Given the description of an element on the screen output the (x, y) to click on. 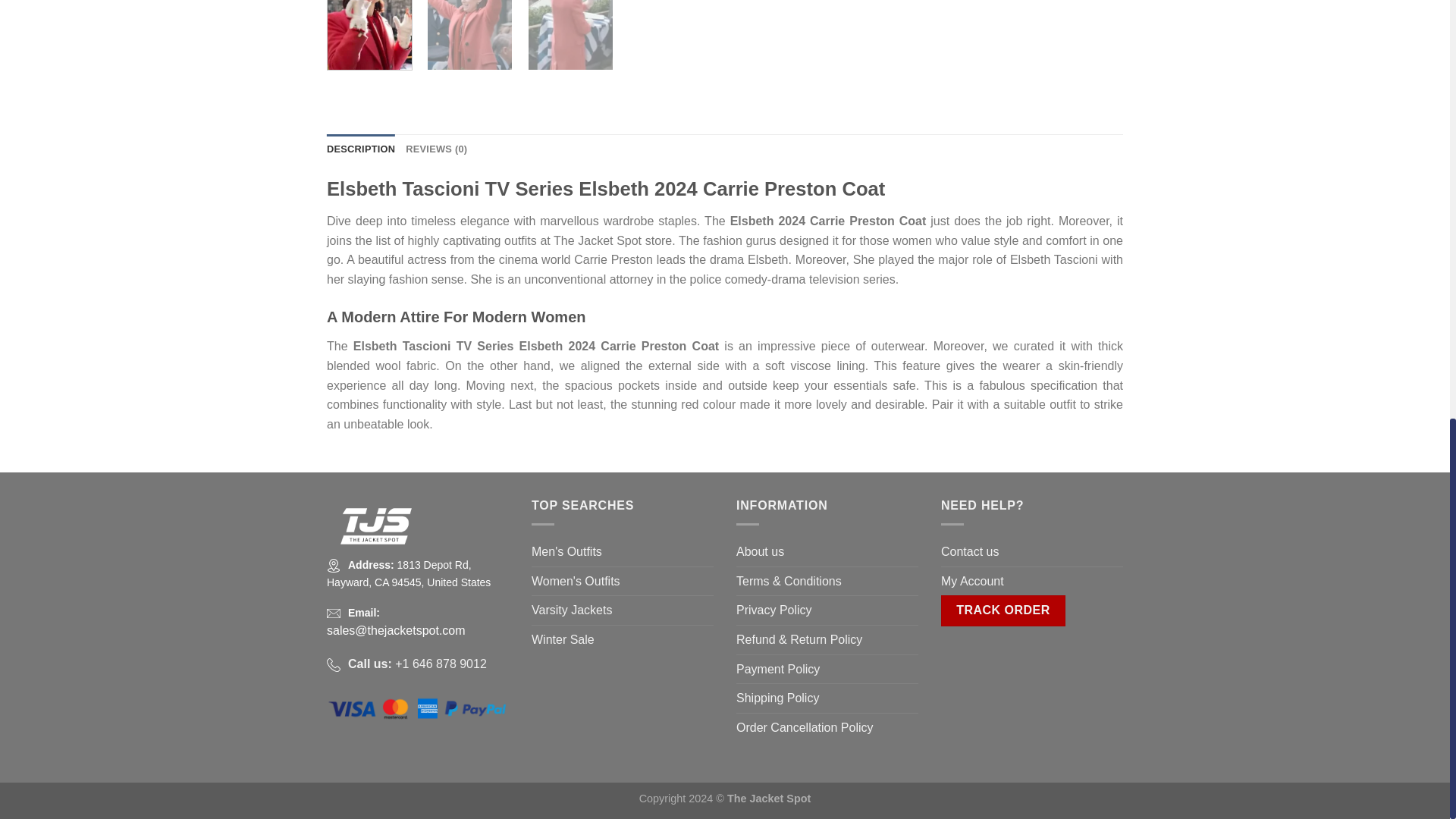
DESCRIPTION (360, 149)
